Given the description of an element on the screen output the (x, y) to click on. 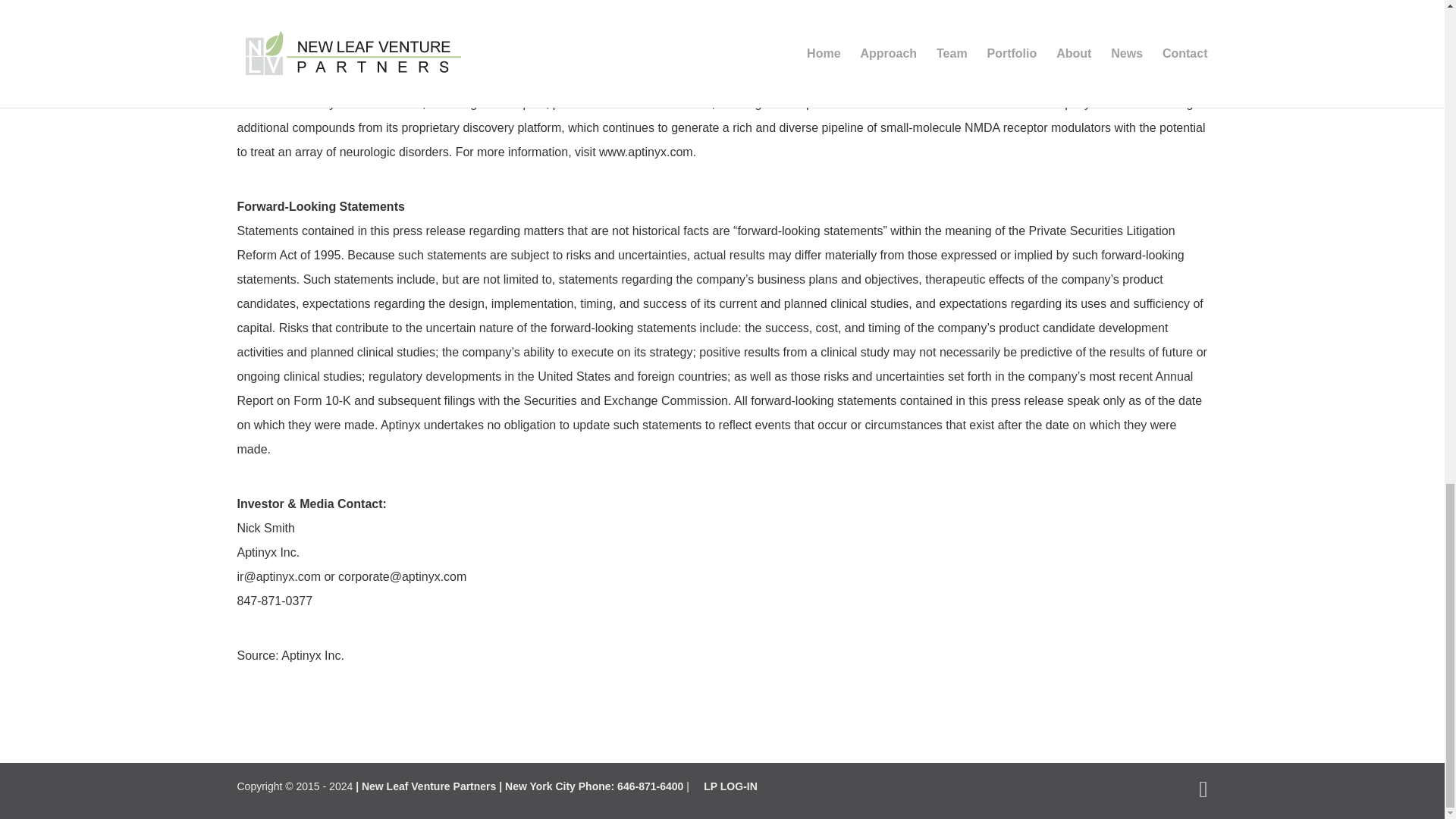
LP LOG-IN (730, 786)
